Given the description of an element on the screen output the (x, y) to click on. 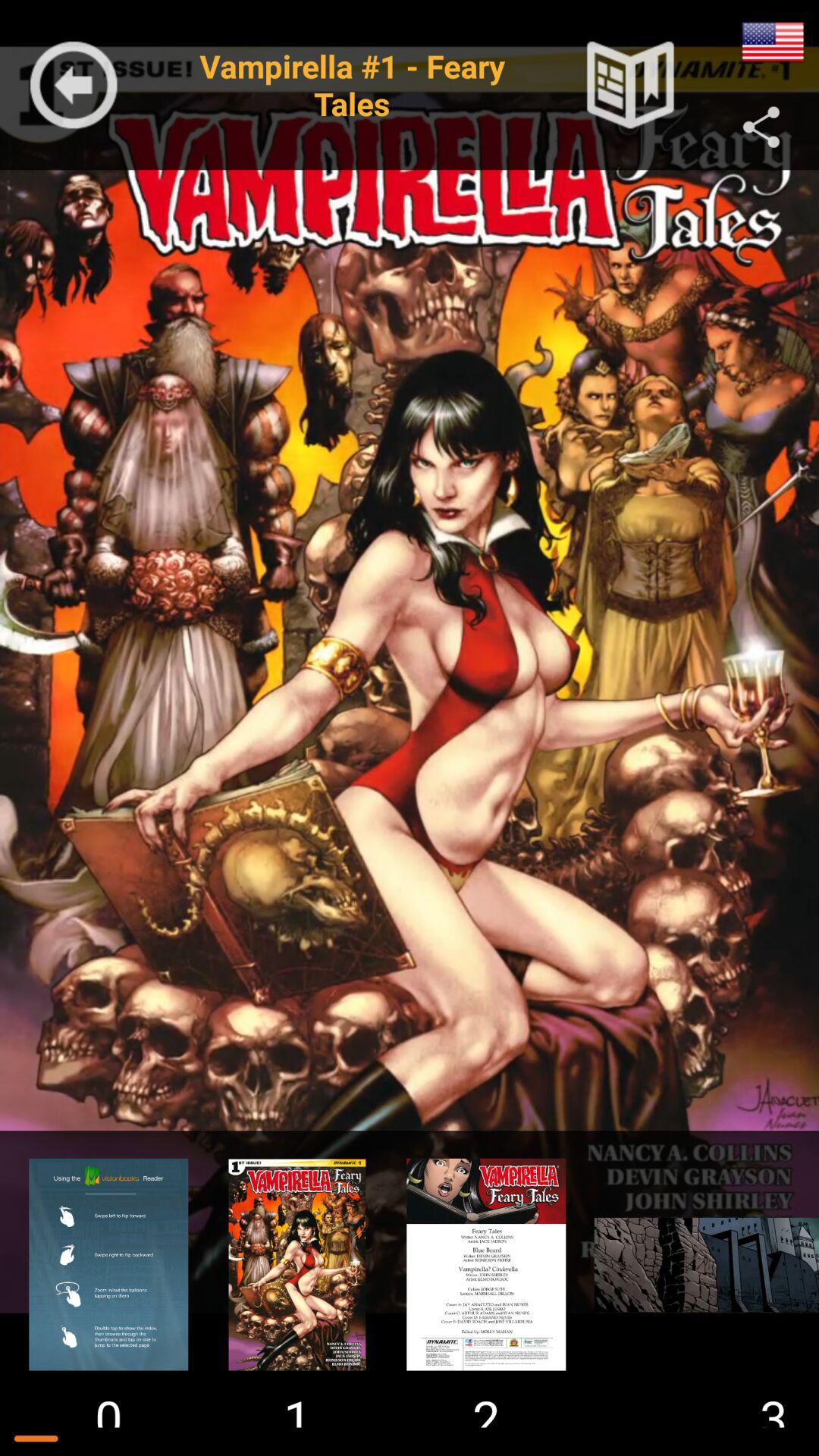
bookmark option (630, 85)
